Given the description of an element on the screen output the (x, y) to click on. 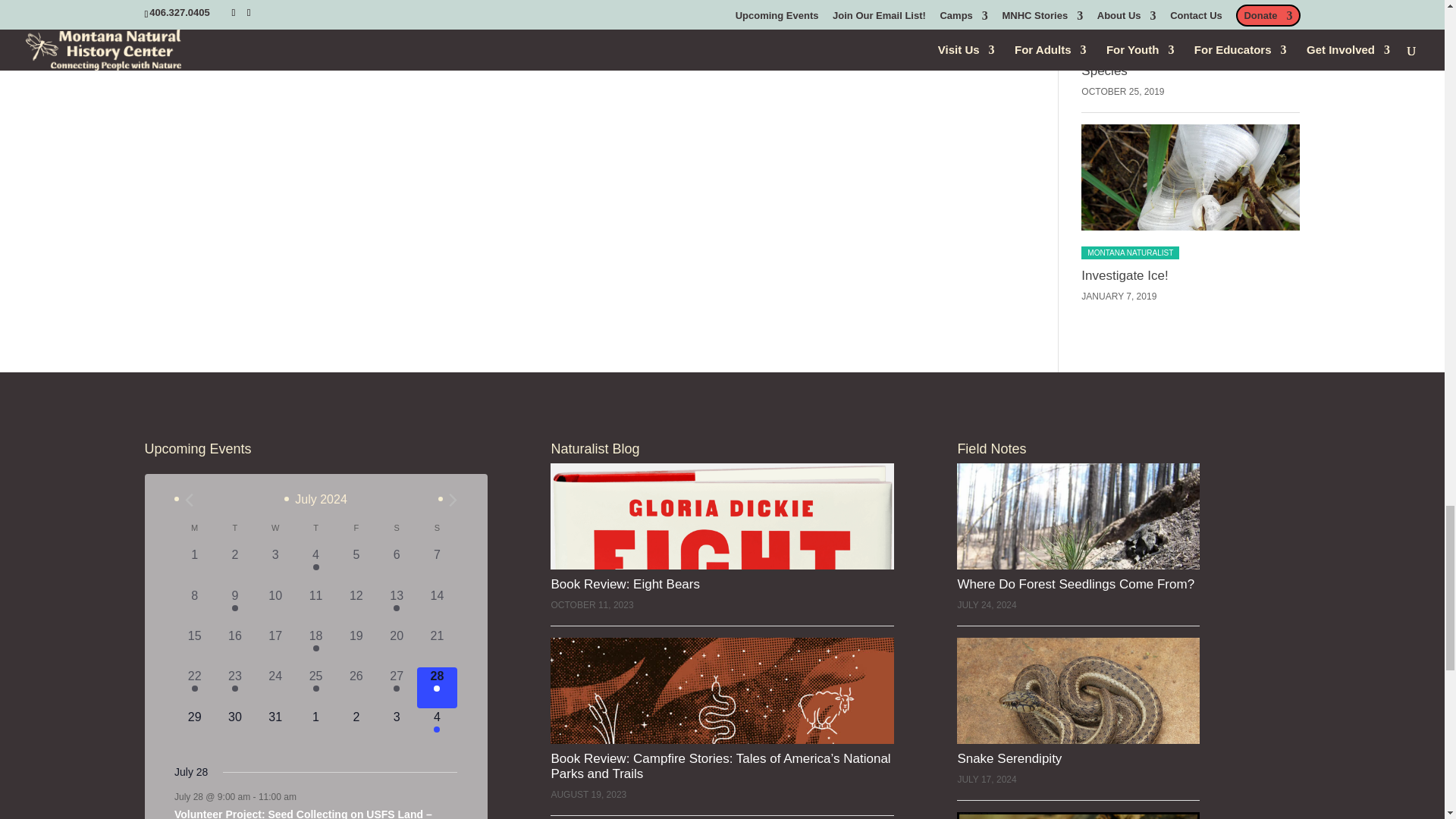
Has events (315, 567)
Has events (234, 607)
Has events (395, 607)
Next month (452, 499)
Previous month (188, 499)
